Given the description of an element on the screen output the (x, y) to click on. 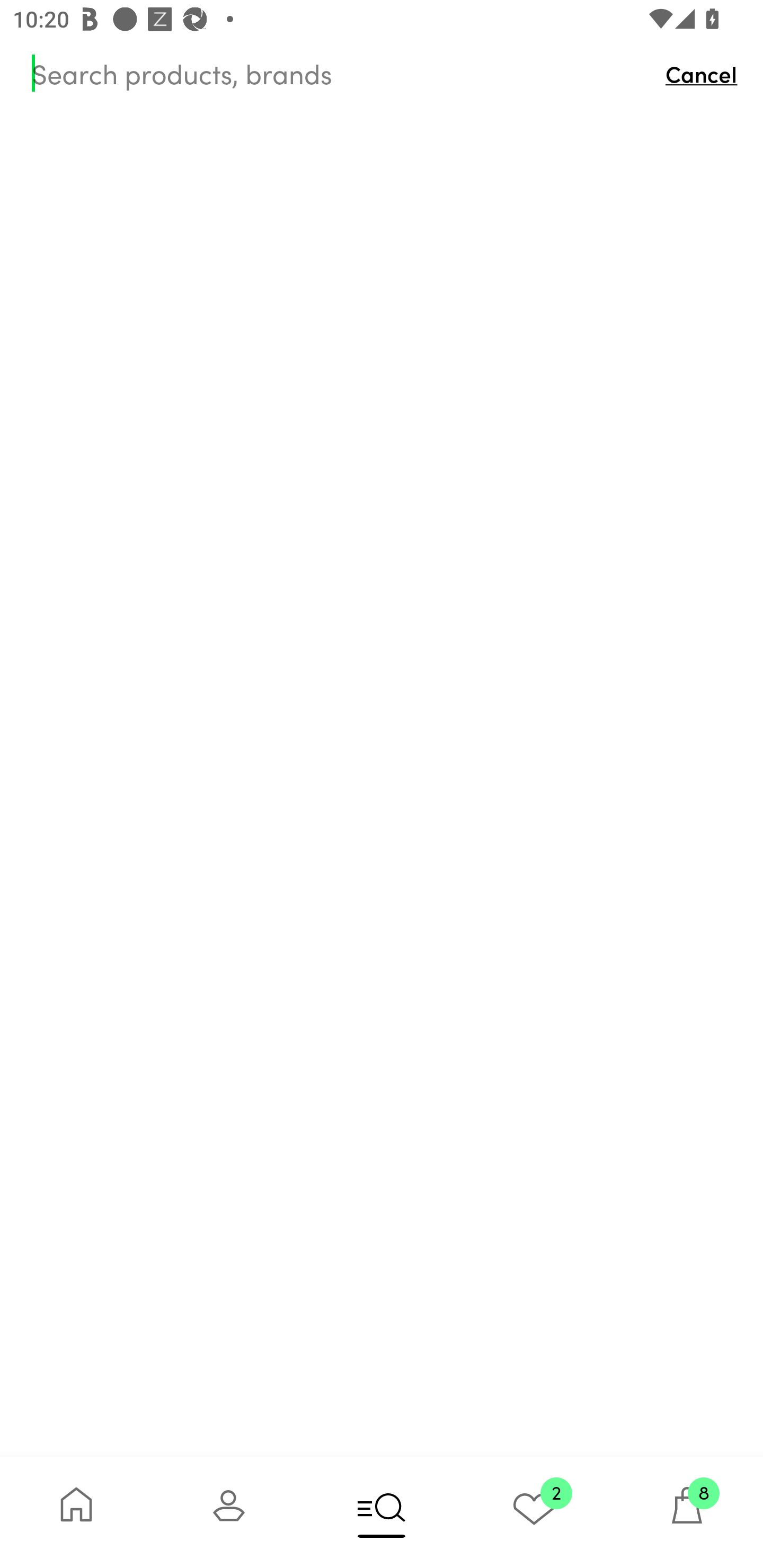
Cancel (706, 72)
Search products, brands (340, 72)
2 (533, 1512)
8 (686, 1512)
